Given the description of an element on the screen output the (x, y) to click on. 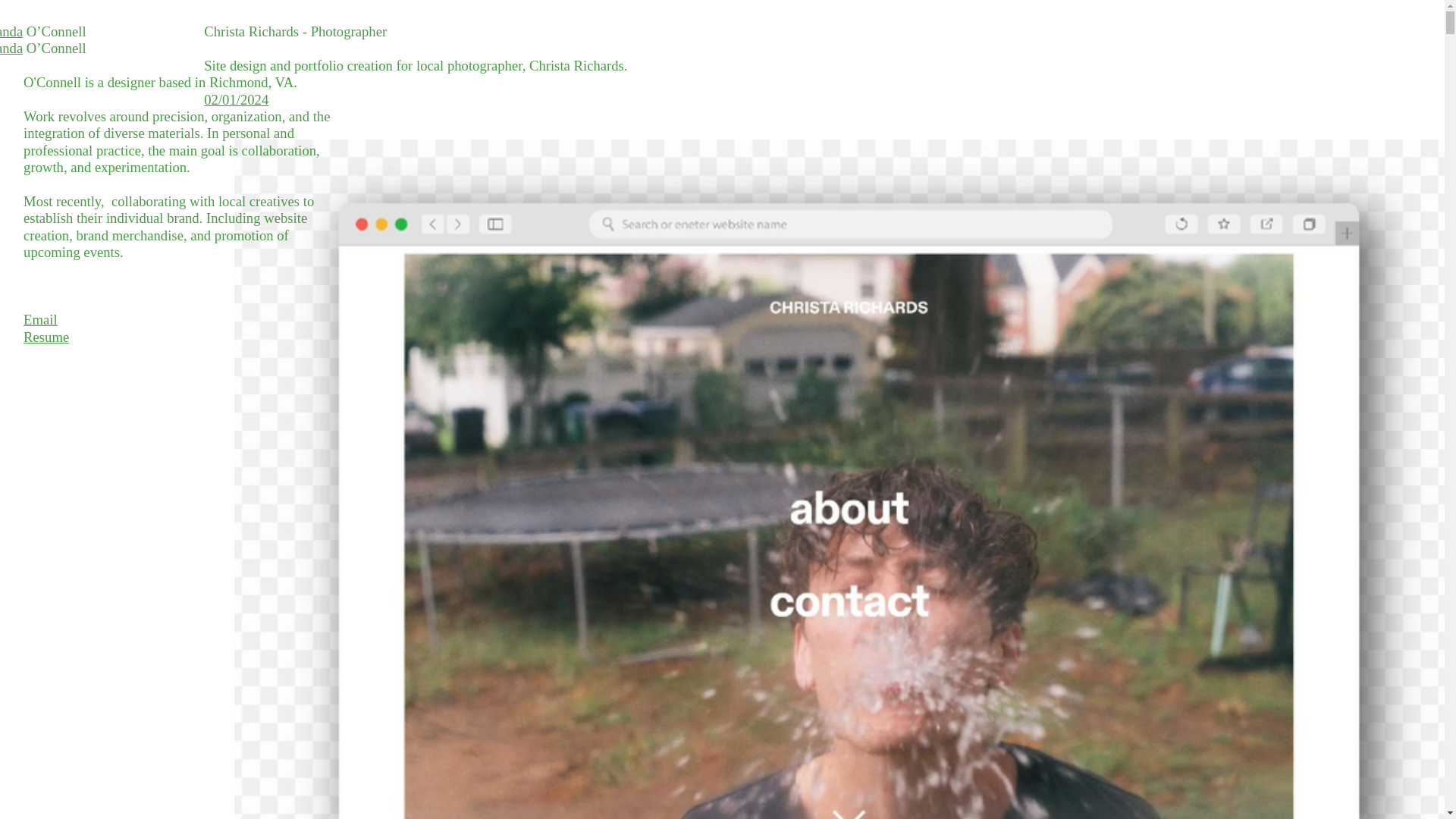
Amanda (11, 31)
Resume (45, 336)
Amanda (11, 48)
Email (40, 319)
